Given the description of an element on the screen output the (x, y) to click on. 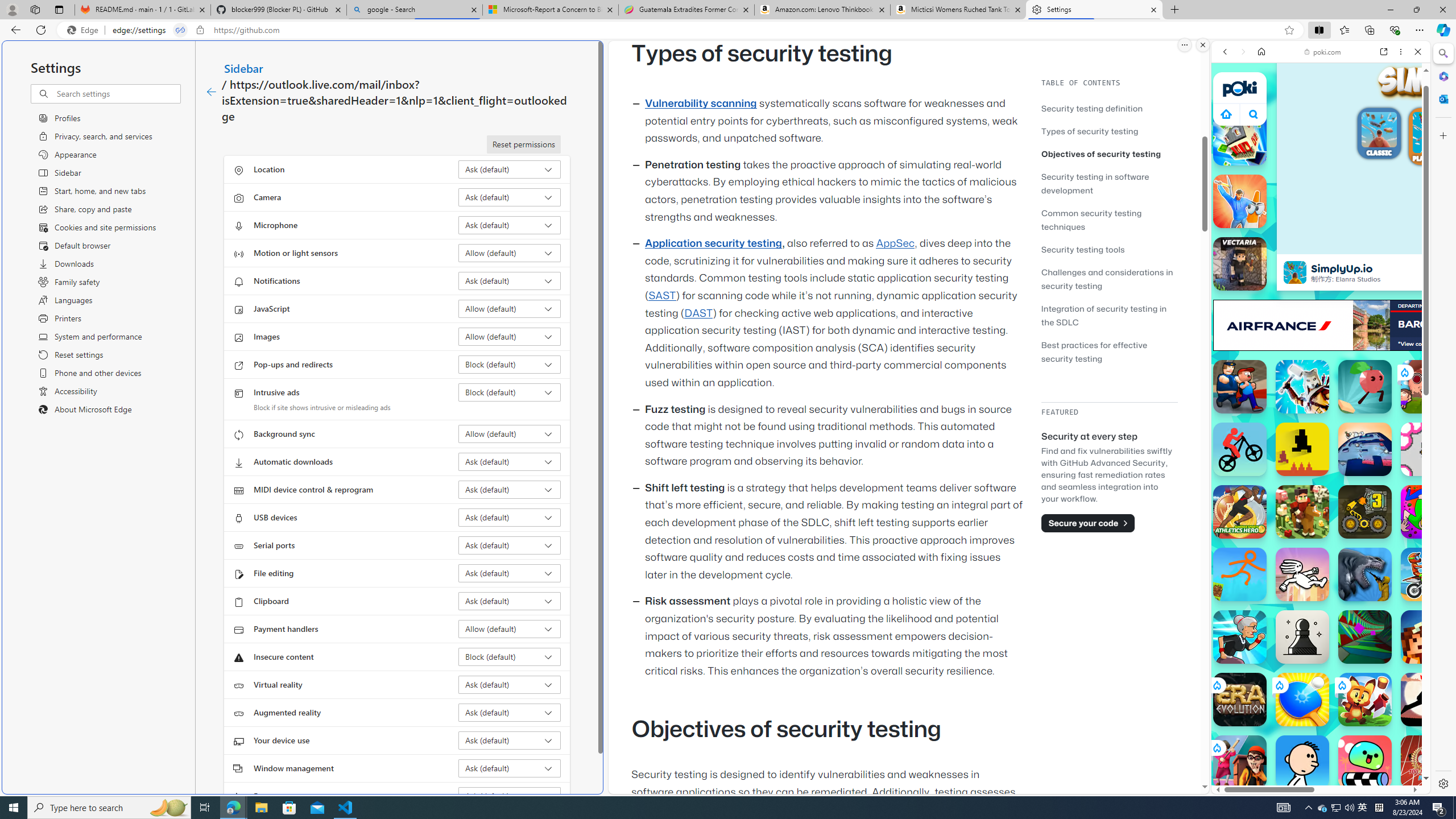
Class: hvLtMSipvVng82x9Seuh (1294, 272)
Angry Gran Run (1239, 636)
Class: rounded img-fluid d-block w-100 fit-cover (1433, 132)
Class: B_5ykBA46kDOxiz_R9wm (1253, 113)
Go back to Sidebar page. (210, 91)
Hills of Steel Hills of Steel poki.com (1264, 548)
Simply Prop Hunt Simply Prop Hunt (1239, 200)
School Escape! (1239, 761)
Challenges and considerations in security testing (1107, 278)
Preferences (1403, 129)
Class: aprWdaSScyiJf4Jvmsx9 (1225, 113)
The Speed Ninja The Speed Ninja (1427, 699)
